Given the description of an element on the screen output the (x, y) to click on. 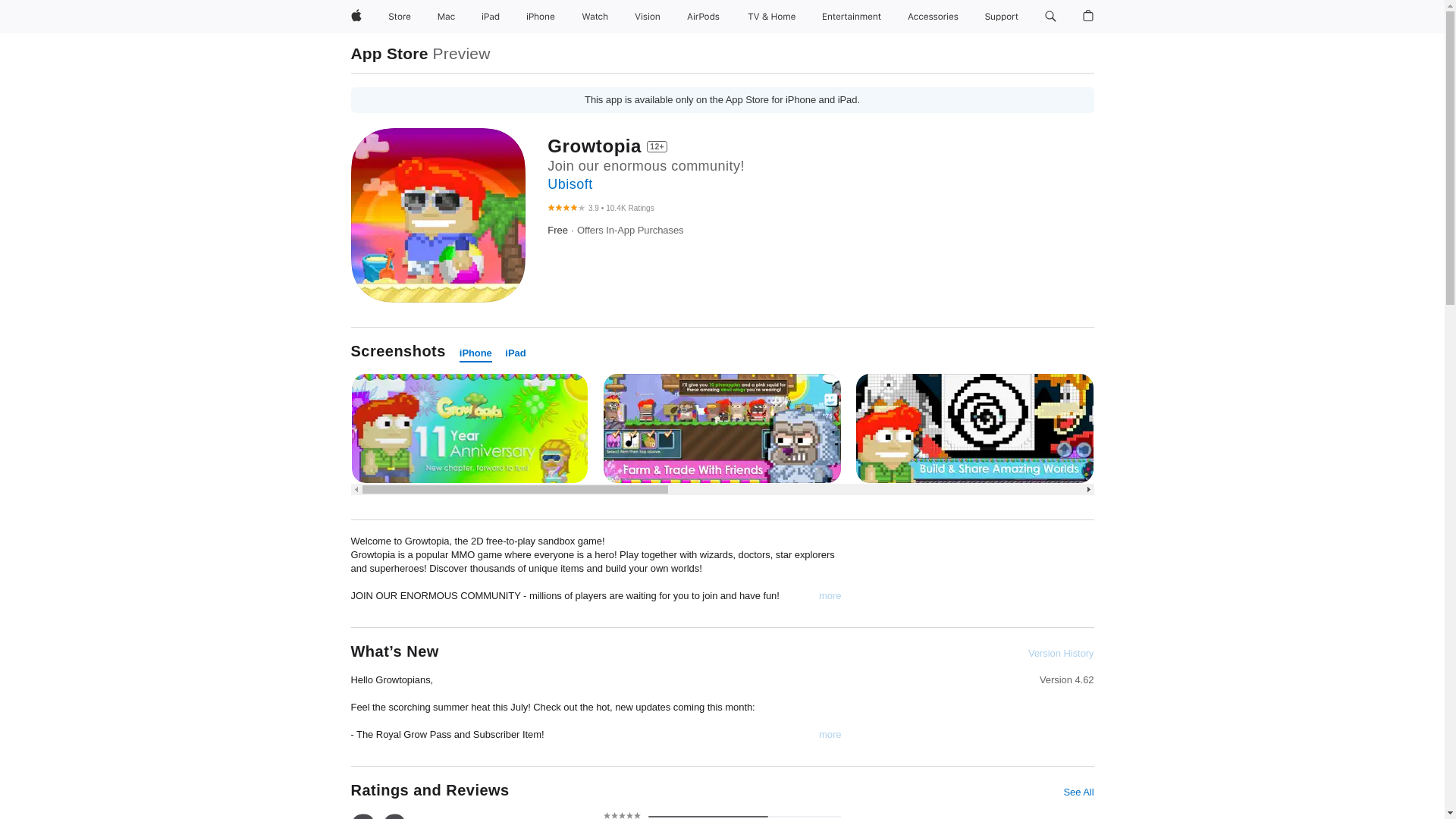
iPhone (476, 353)
iPad (490, 16)
App Store (389, 53)
Accessories (932, 16)
See All (1077, 792)
Version History (1060, 653)
more (829, 735)
Watch (594, 16)
Vision (647, 16)
iPhone (539, 16)
Store (398, 16)
Ubisoft (569, 183)
Entertainment (851, 16)
iPad (515, 353)
more (829, 595)
